Given the description of an element on the screen output the (x, y) to click on. 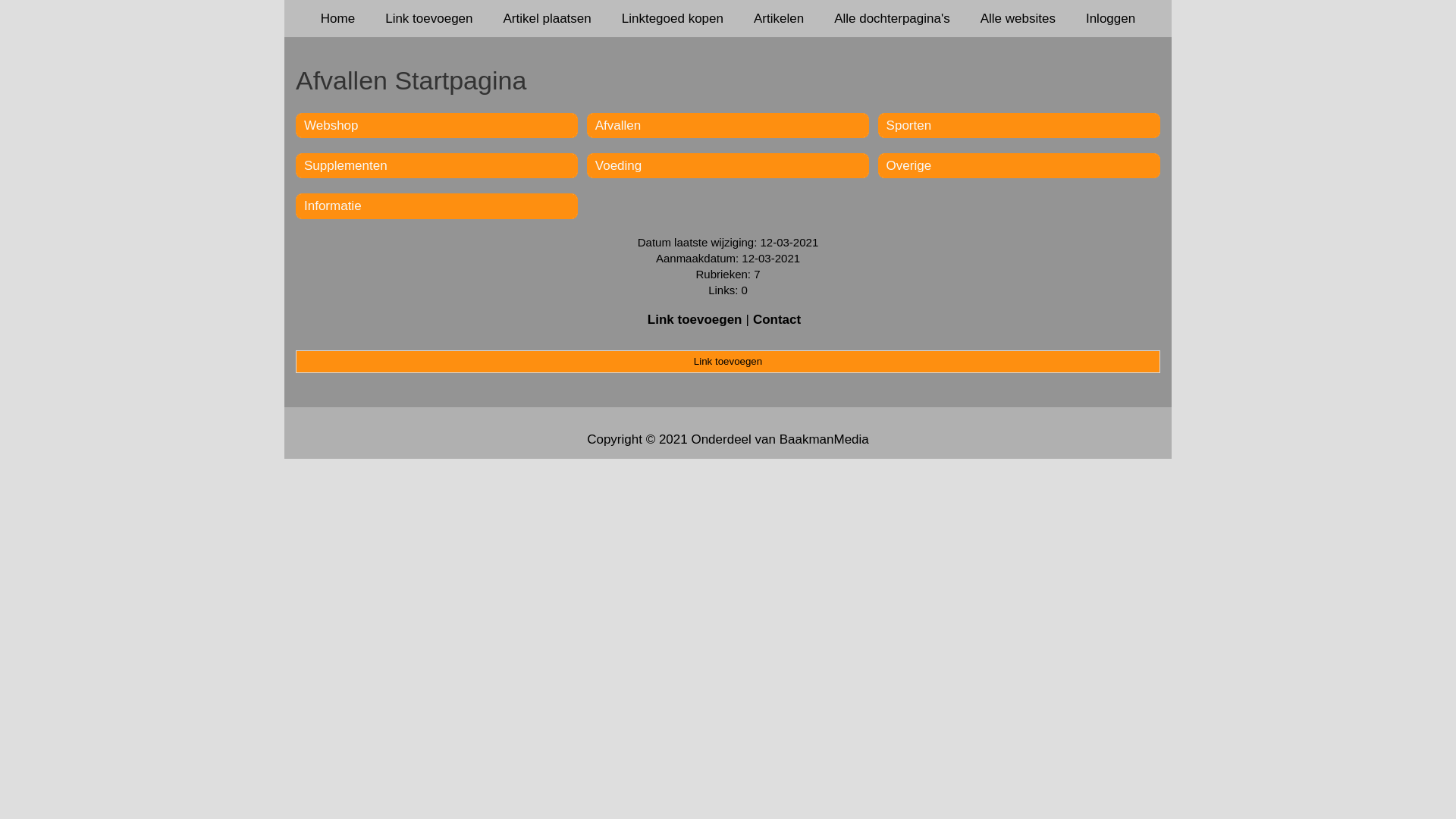
Sporten Element type: text (908, 125)
Alle websites Element type: text (1017, 18)
Artikelen Element type: text (778, 18)
Supplementen Element type: text (345, 165)
Afvallen Element type: text (617, 125)
Informatie Element type: text (332, 205)
Link toevoegen Element type: text (428, 18)
Overige Element type: text (908, 165)
Link toevoegen Element type: text (694, 319)
Home Element type: text (337, 18)
Voeding Element type: text (618, 165)
Link toevoegen Element type: text (727, 361)
Artikel plaatsen Element type: text (547, 18)
BaakmanMedia Element type: text (824, 439)
Inloggen Element type: text (1110, 18)
Webshop Element type: text (331, 125)
Alle dochterpagina's Element type: text (892, 18)
Linktegoed kopen Element type: text (672, 18)
Afvallen Startpagina Element type: text (727, 80)
Contact Element type: text (776, 319)
